Given the description of an element on the screen output the (x, y) to click on. 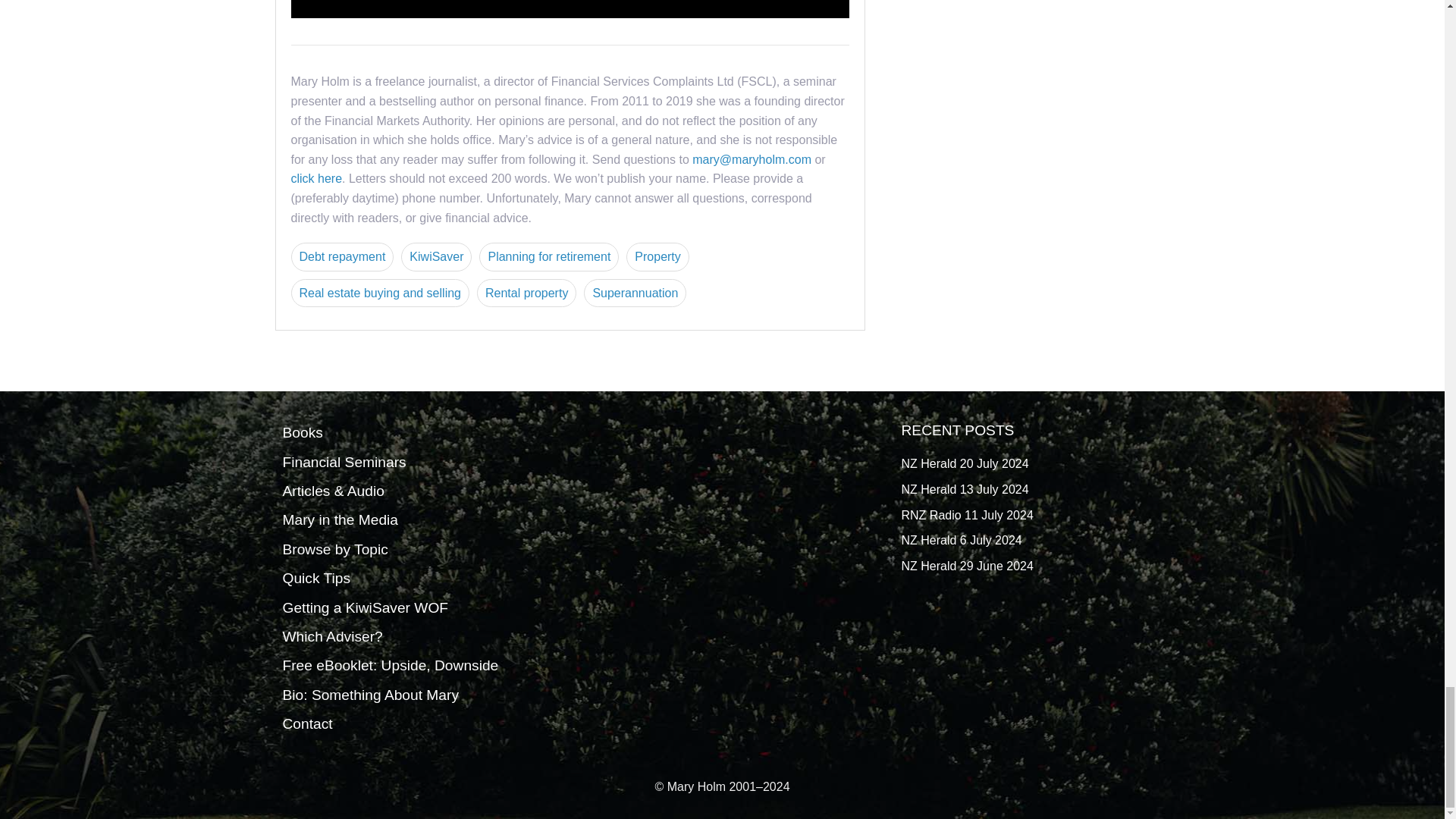
Superannuation (634, 293)
KiwiSaver (436, 256)
Debt repayment (342, 256)
Rental property (526, 293)
click here (316, 178)
Planning for retirement (548, 256)
Real estate buying and selling (379, 293)
Property (657, 256)
